Given the description of an element on the screen output the (x, y) to click on. 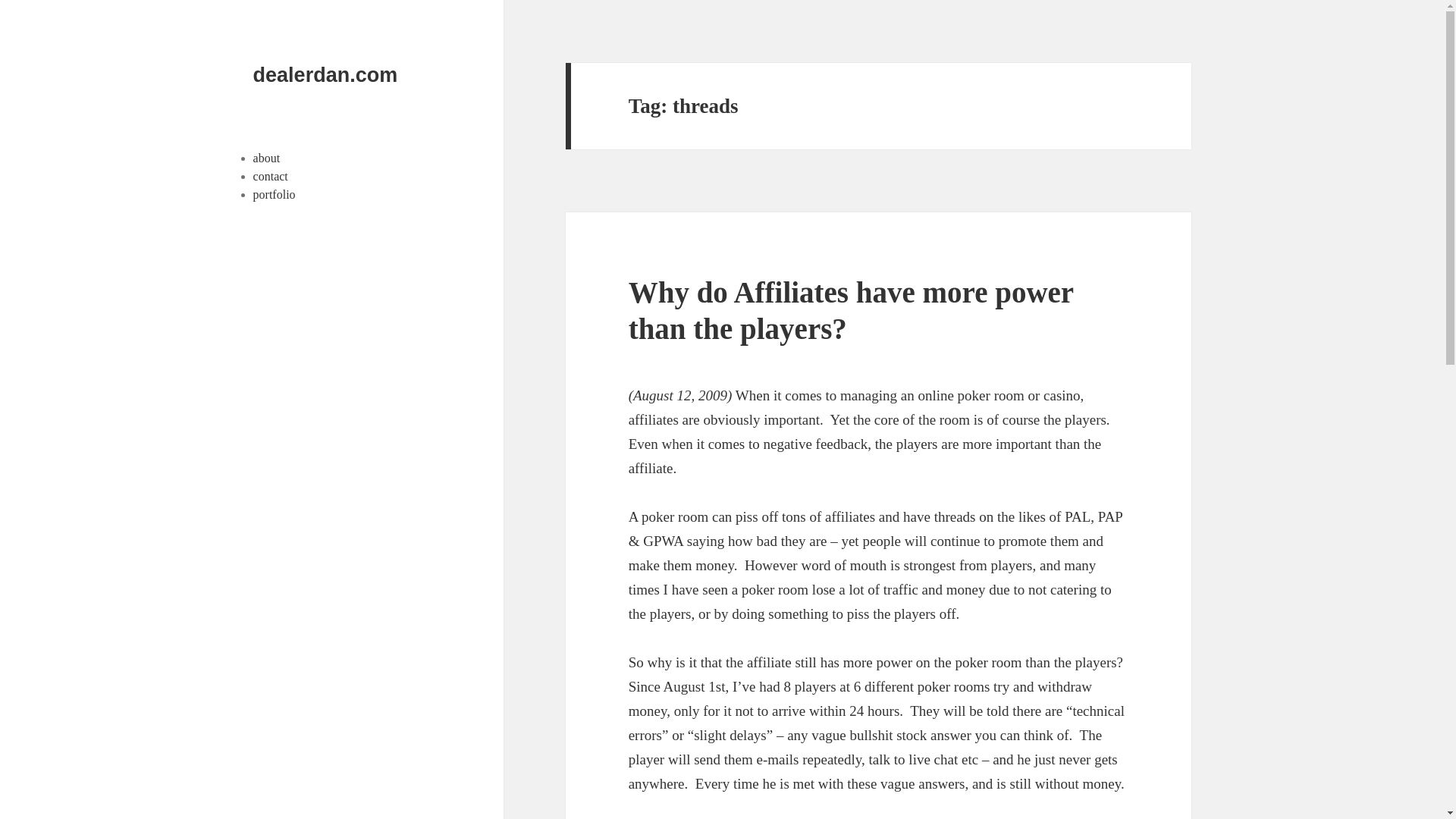
contact (270, 175)
Why do Affiliates have more power than the players? (851, 310)
about (267, 157)
dealerdan.com (325, 74)
portfolio (274, 194)
